Given the description of an element on the screen output the (x, y) to click on. 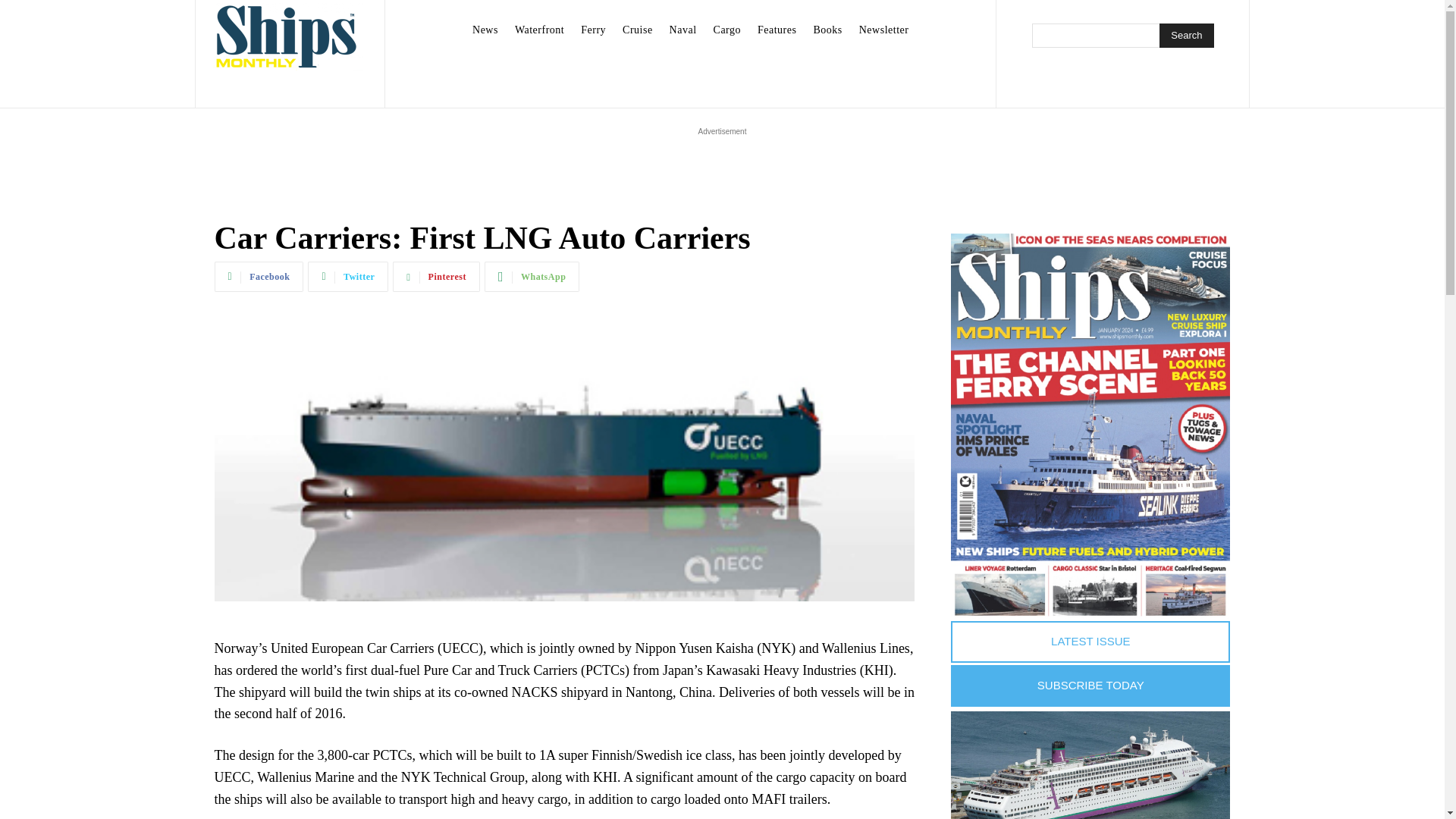
WhatsApp (531, 276)
Facebook (258, 276)
Waterfront (539, 30)
Pinterest (436, 276)
Search (1185, 35)
Newsletter (884, 30)
Twitter (347, 276)
